Given the description of an element on the screen output the (x, y) to click on. 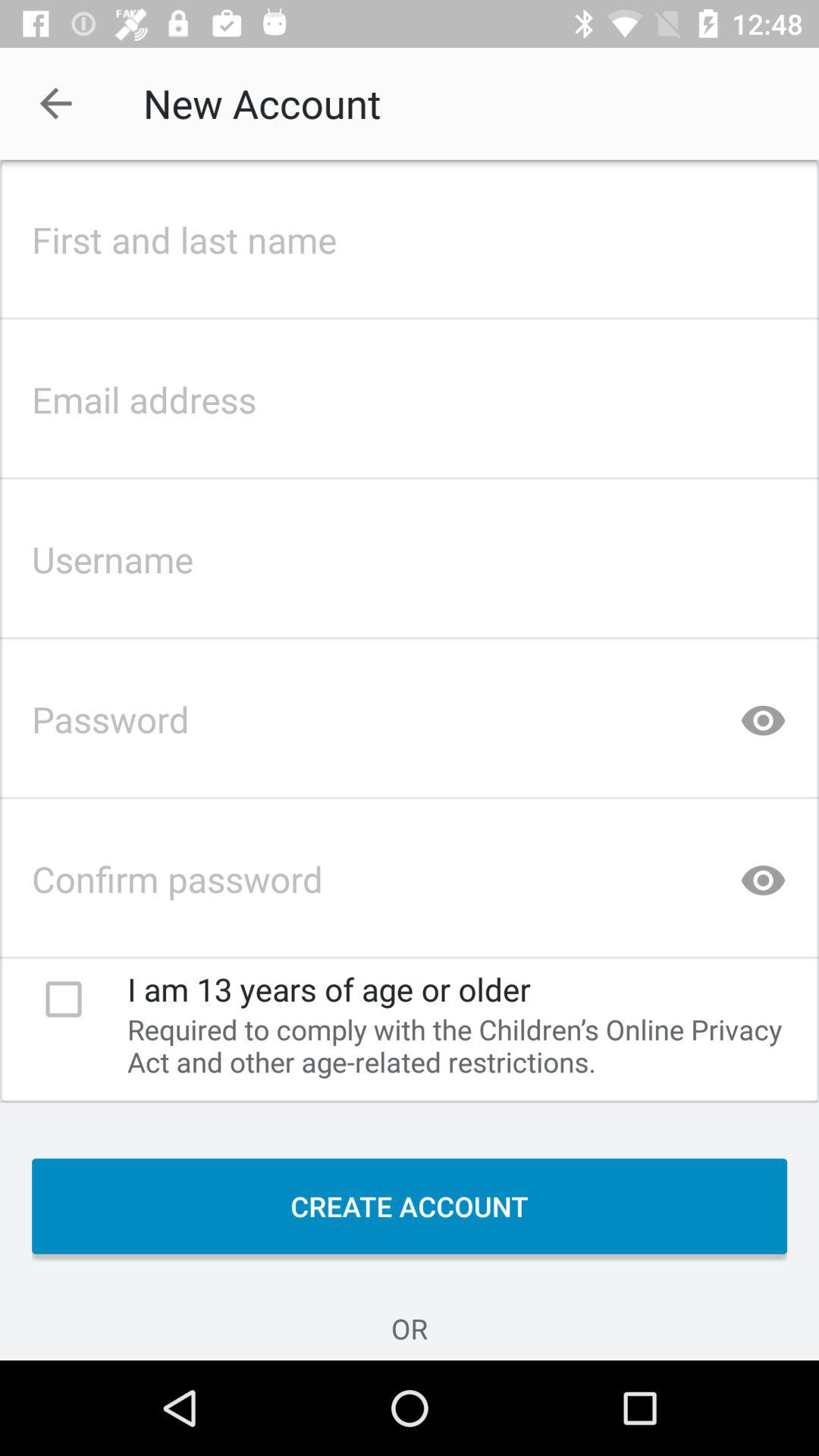
tap the create account item (409, 1206)
